Given the description of an element on the screen output the (x, y) to click on. 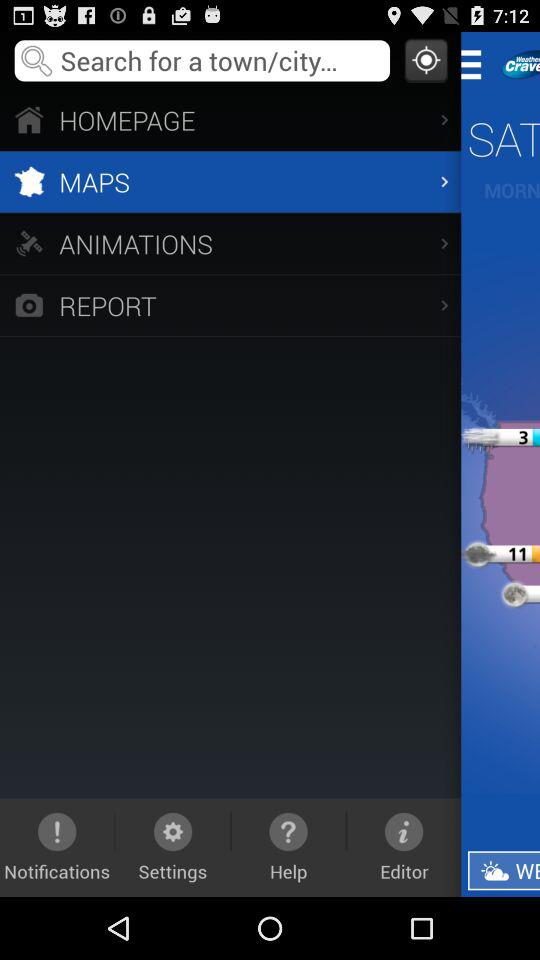
press the icon above the animations app (230, 181)
